Given the description of an element on the screen output the (x, y) to click on. 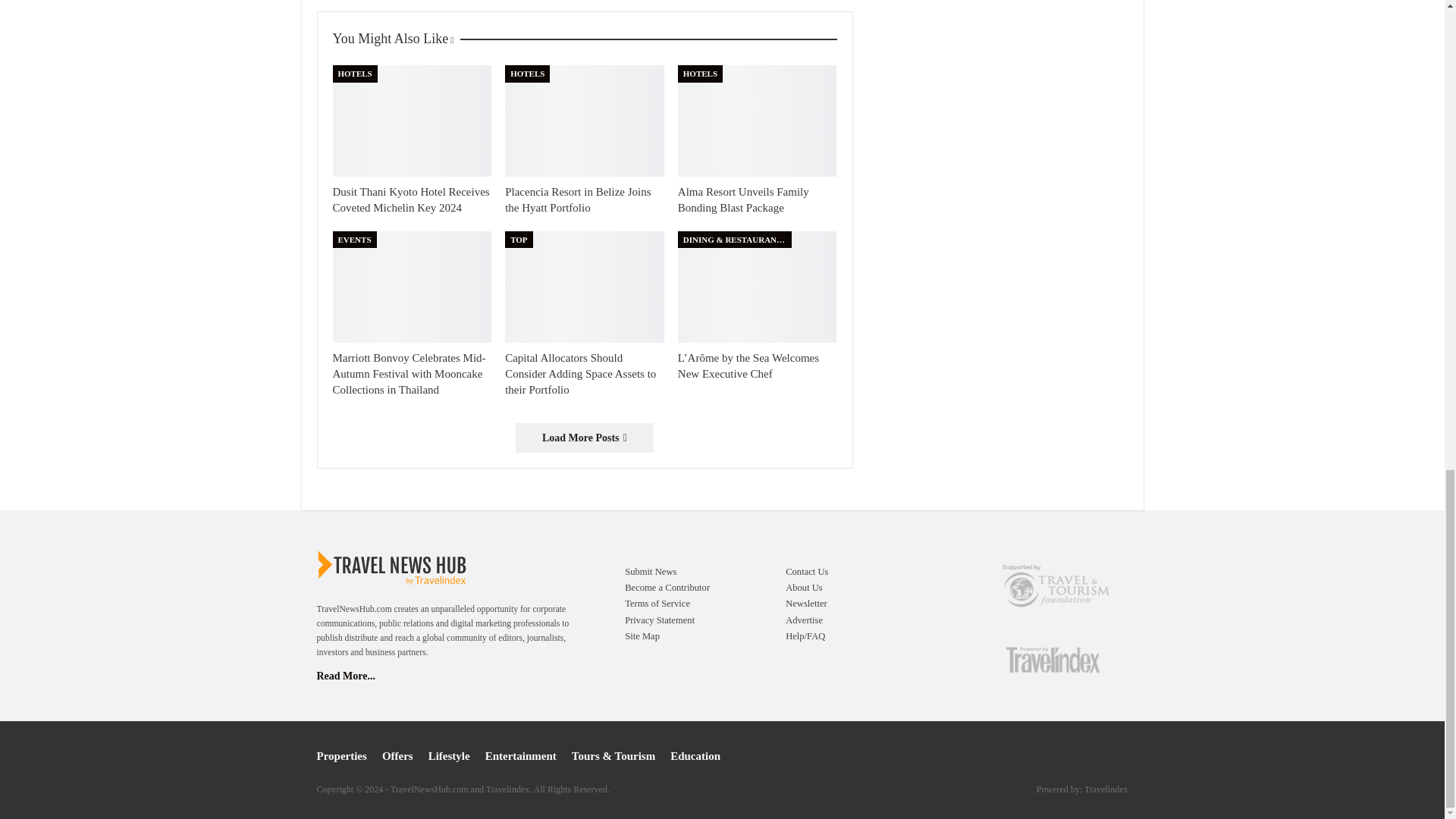
Alma Resort Unveils Family Bonding Blast Package (743, 199)
Placencia Resort in Belize Joins the Hyatt Portfolio (577, 199)
Dusit Thani Kyoto Hotel Receives Coveted Michelin Key 2024 (411, 120)
Alma Resort Unveils Family Bonding Blast Package (757, 120)
Dusit Thani Kyoto Hotel Receives Coveted Michelin Key 2024 (410, 199)
Placencia Resort in Belize Joins the Hyatt Portfolio (584, 120)
Load More Posts (584, 437)
